Given the description of an element on the screen output the (x, y) to click on. 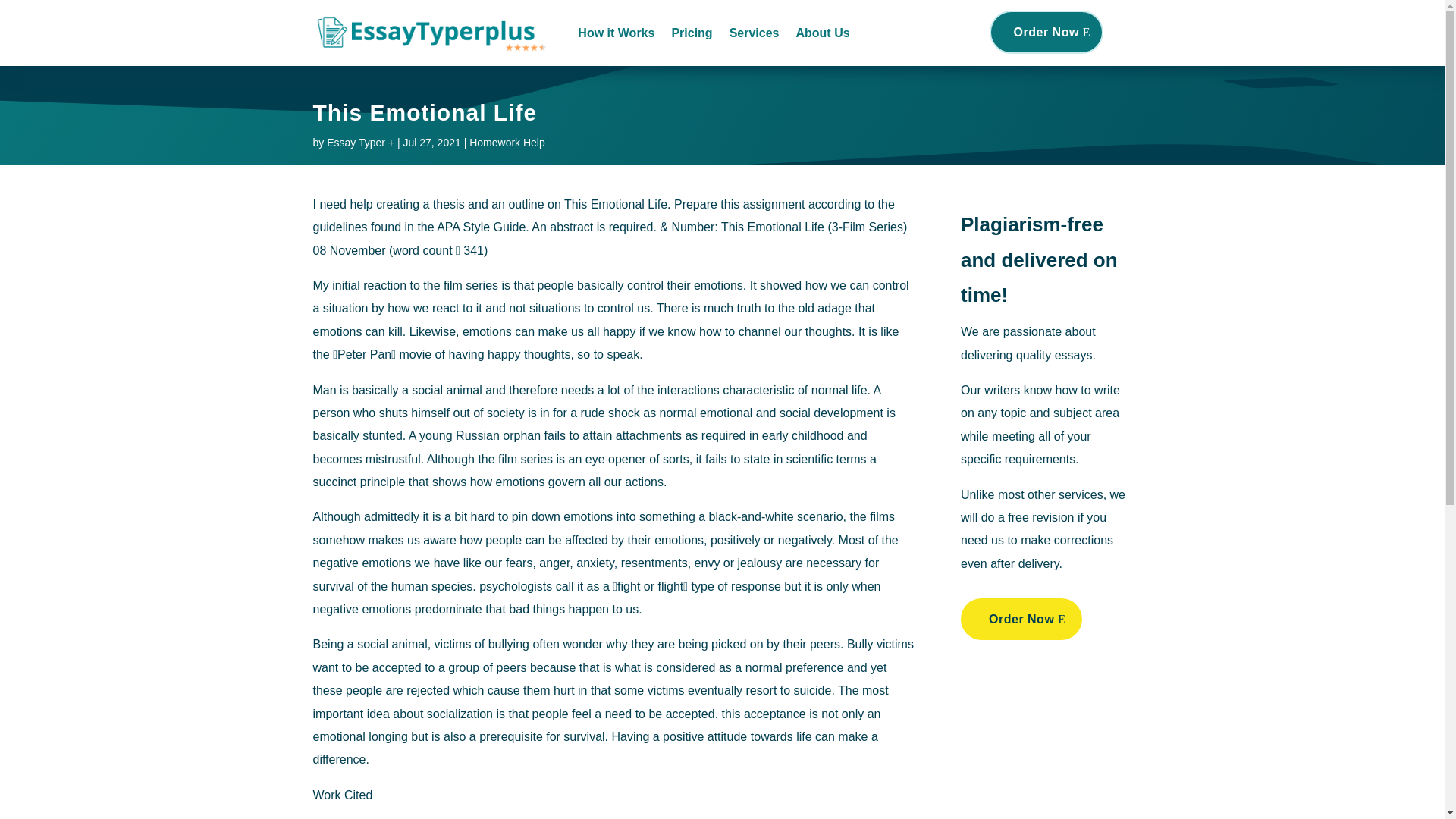
Order Now (1046, 32)
Homework Help (506, 142)
Order Now (1020, 618)
About Us (821, 33)
How it Works (615, 33)
